Given the description of an element on the screen output the (x, y) to click on. 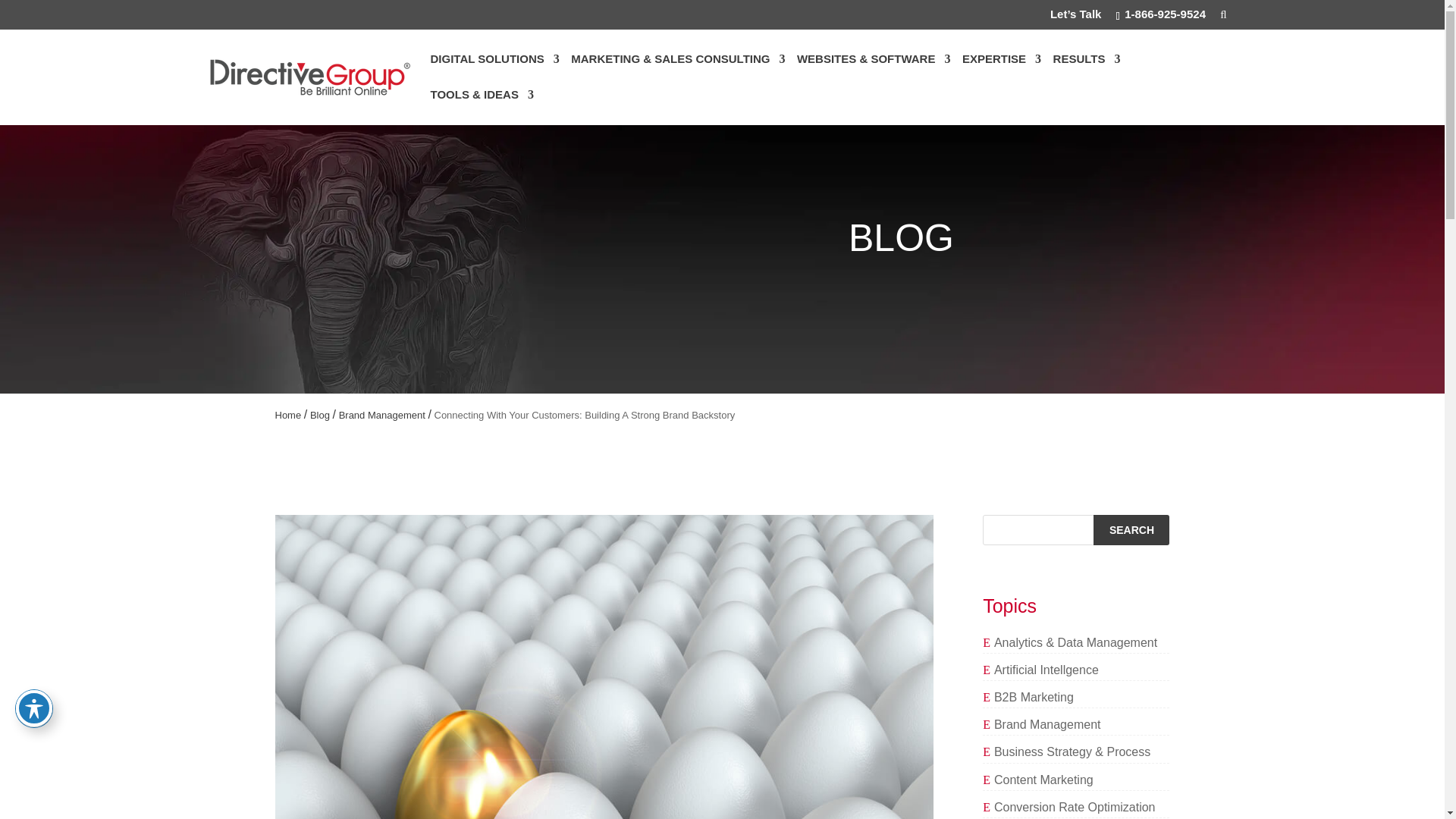
Search (1131, 530)
Brand Management (382, 414)
Home (288, 414)
1-866-925-9524 (1160, 18)
Blog (320, 414)
DIGITAL SOLUTIONS (494, 71)
